Given the description of an element on the screen output the (x, y) to click on. 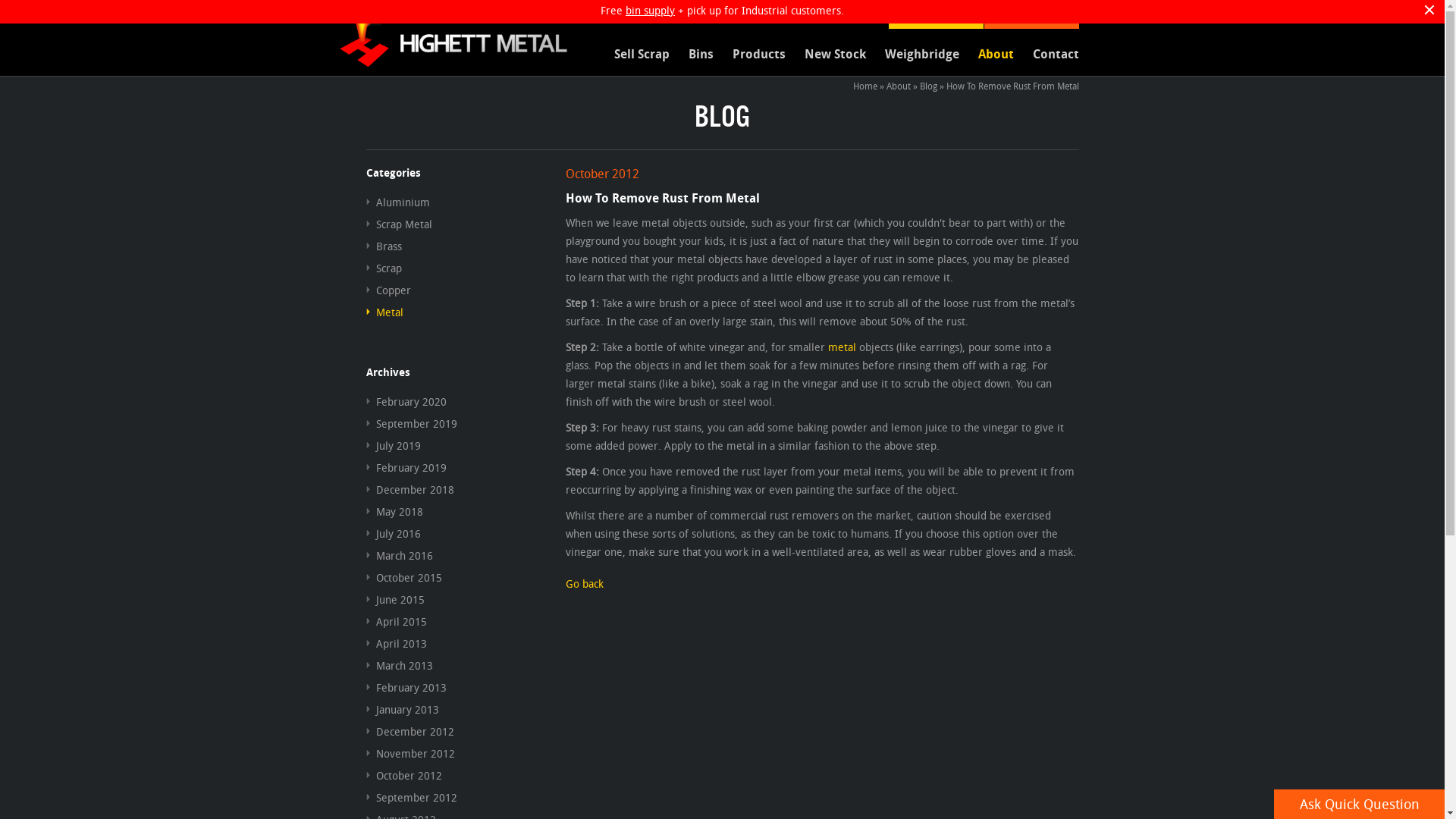
Bins Element type: text (690, 53)
December 2012 Element type: text (409, 731)
bin supply Element type: text (649, 10)
March 2013 Element type: text (398, 665)
About Element type: text (985, 53)
BUY Element type: text (1031, 14)
February 2020 Element type: text (405, 401)
April 2015 Element type: text (395, 621)
Blog Element type: text (927, 85)
February 2013 Element type: text (405, 687)
July 2016 Element type: text (392, 533)
October 2012 Element type: text (403, 775)
Aluminium Element type: text (397, 201)
December 2018 Element type: text (409, 489)
January 2013 Element type: text (401, 709)
Home Element type: text (864, 85)
Copper Element type: text (387, 289)
June 2015 Element type: text (394, 599)
Scrap Metal Element type: text (398, 223)
October 2015 Element type: text (403, 577)
September 2019 Element type: text (410, 423)
Scrap Element type: text (383, 267)
Brass Element type: text (383, 245)
Metal Element type: text (383, 311)
November 2012 Element type: text (409, 753)
Products Element type: text (748, 53)
Go back Element type: text (584, 583)
May 2018 Element type: text (393, 511)
Sell Scrap Element type: text (631, 53)
July 2019 Element type: text (392, 445)
Contact Element type: text (1045, 53)
March 2016 Element type: text (398, 555)
April 2013 Element type: text (395, 643)
metal Element type: text (842, 346)
New Stock Element type: text (825, 53)
Weighbridge Element type: text (912, 53)
September 2012 Element type: text (410, 797)
February 2019 Element type: text (405, 467)
SELL Element type: text (935, 14)
About Element type: text (897, 85)
